Given the description of an element on the screen output the (x, y) to click on. 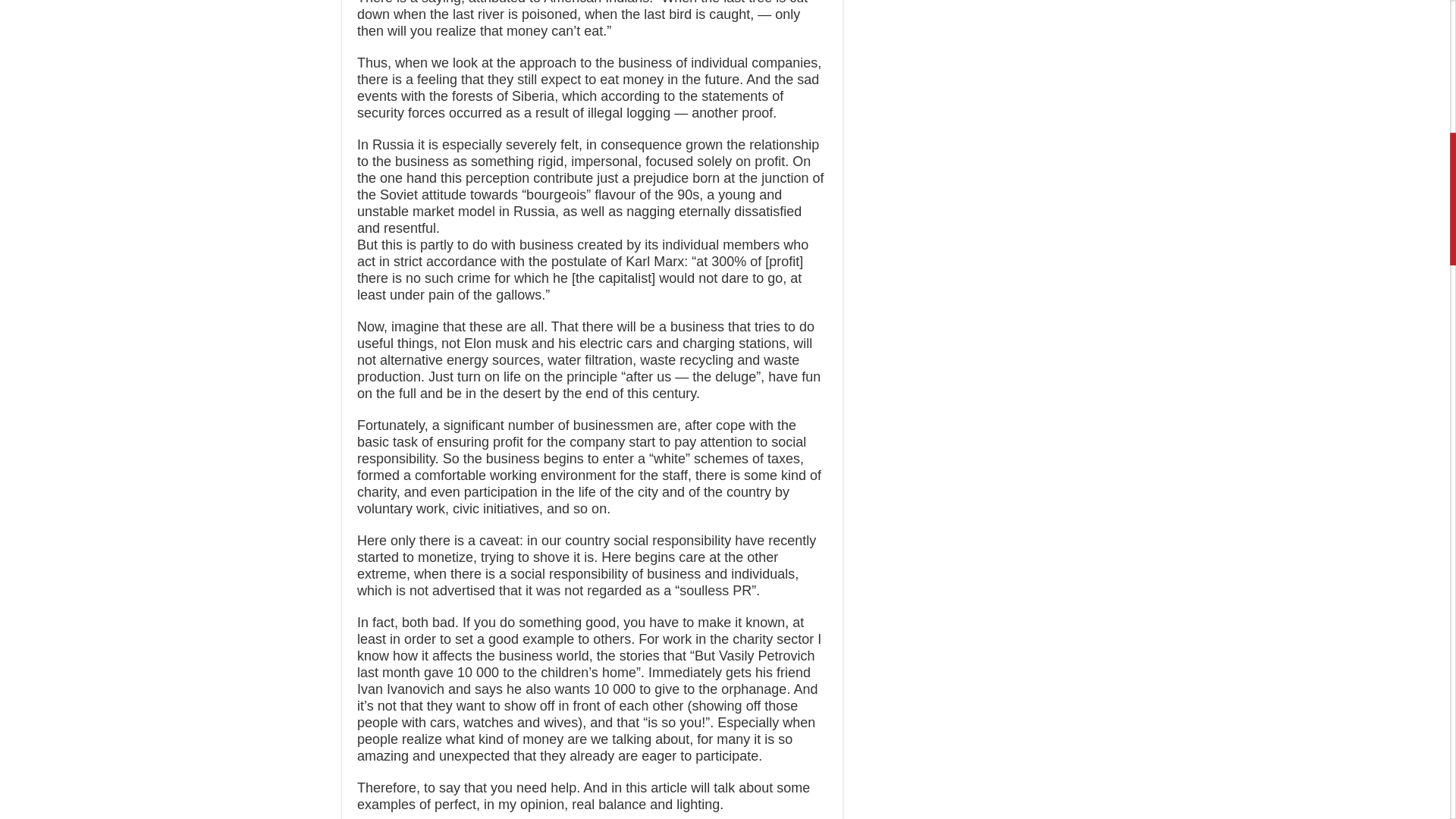
Scroll To Top (1427, 60)
